Given the description of an element on the screen output the (x, y) to click on. 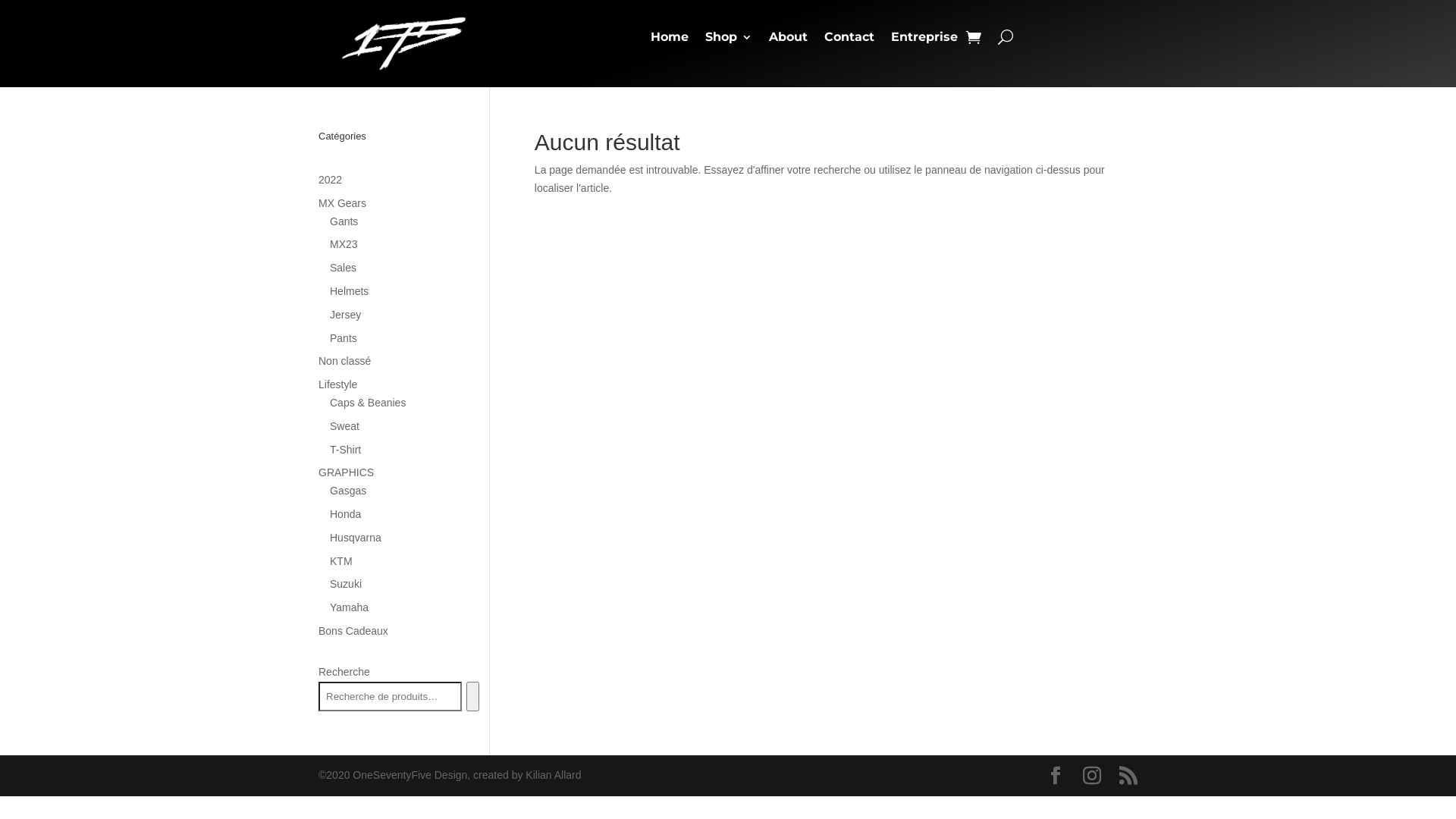
Bons Cadeaux Element type: text (353, 630)
MX23 Element type: text (343, 244)
Honda Element type: text (344, 514)
Lifestyle Element type: text (337, 384)
Yamaha Element type: text (348, 607)
Jersey Element type: text (344, 314)
About Element type: text (787, 40)
2022 Element type: text (330, 179)
Sweat Element type: text (344, 426)
MX Gears Element type: text (342, 203)
Entreprise Element type: text (924, 40)
KTM Element type: text (340, 561)
T-Shirt Element type: text (344, 449)
GRAPHICS Element type: text (345, 472)
Suzuki Element type: text (345, 583)
Contact Element type: text (849, 40)
Helmets Element type: text (348, 291)
Pants Element type: text (343, 338)
Home Element type: text (669, 40)
Gants Element type: text (343, 221)
Husqvarna Element type: text (355, 537)
Sales Element type: text (342, 267)
175MxGraphics-01 Element type: hover (403, 43)
Gasgas Element type: text (347, 490)
Caps & Beanies Element type: text (367, 402)
Shop Element type: text (728, 40)
